Given the description of an element on the screen output the (x, y) to click on. 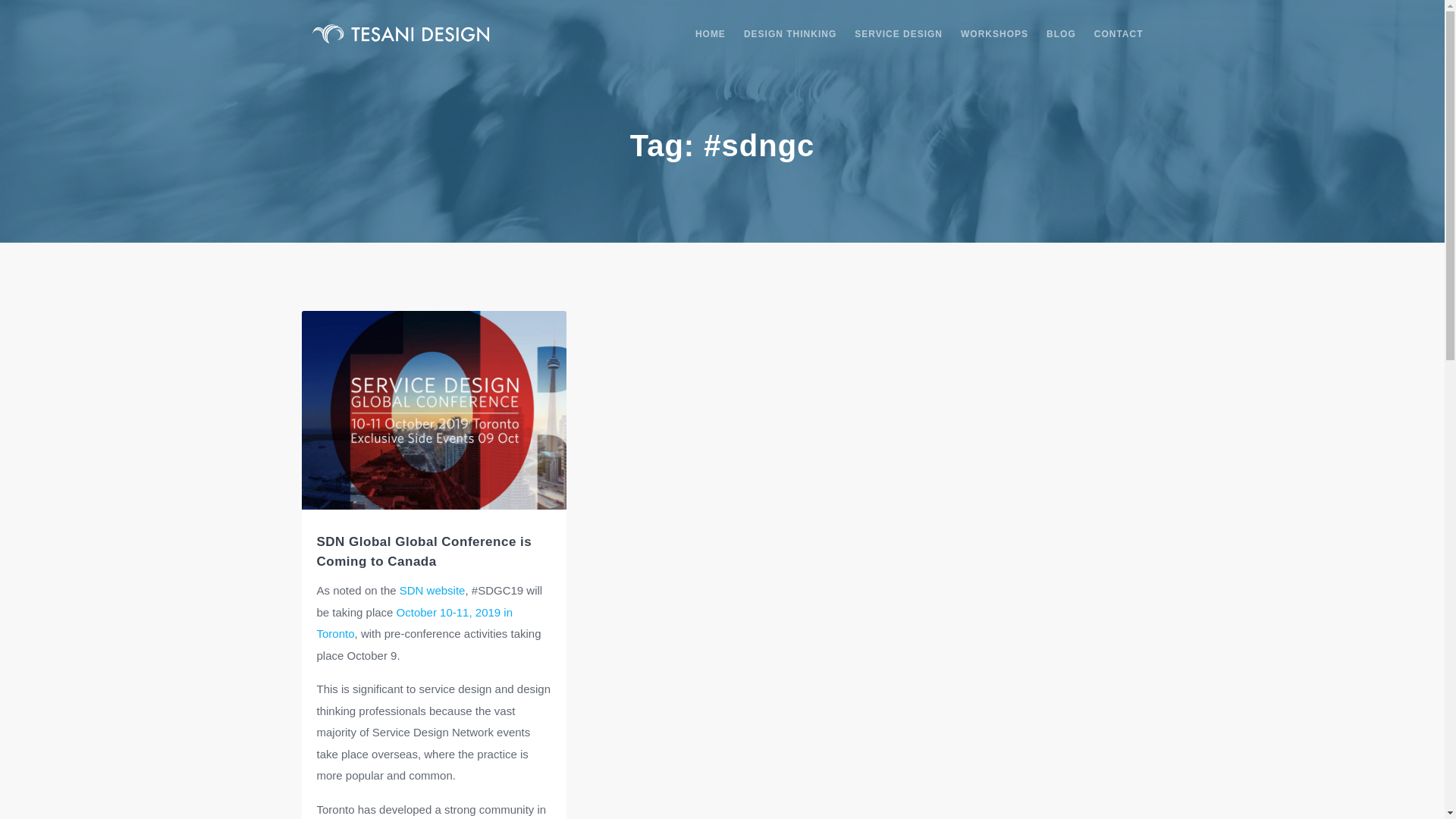
WORKSHOPS (993, 33)
DESIGN THINKING (789, 33)
SDN Global Global Conference is Coming to Canada (424, 551)
October 10-11, 2019 in Toronto (415, 623)
SDN website (431, 590)
SERVICE DESIGN (898, 33)
